Given the description of an element on the screen output the (x, y) to click on. 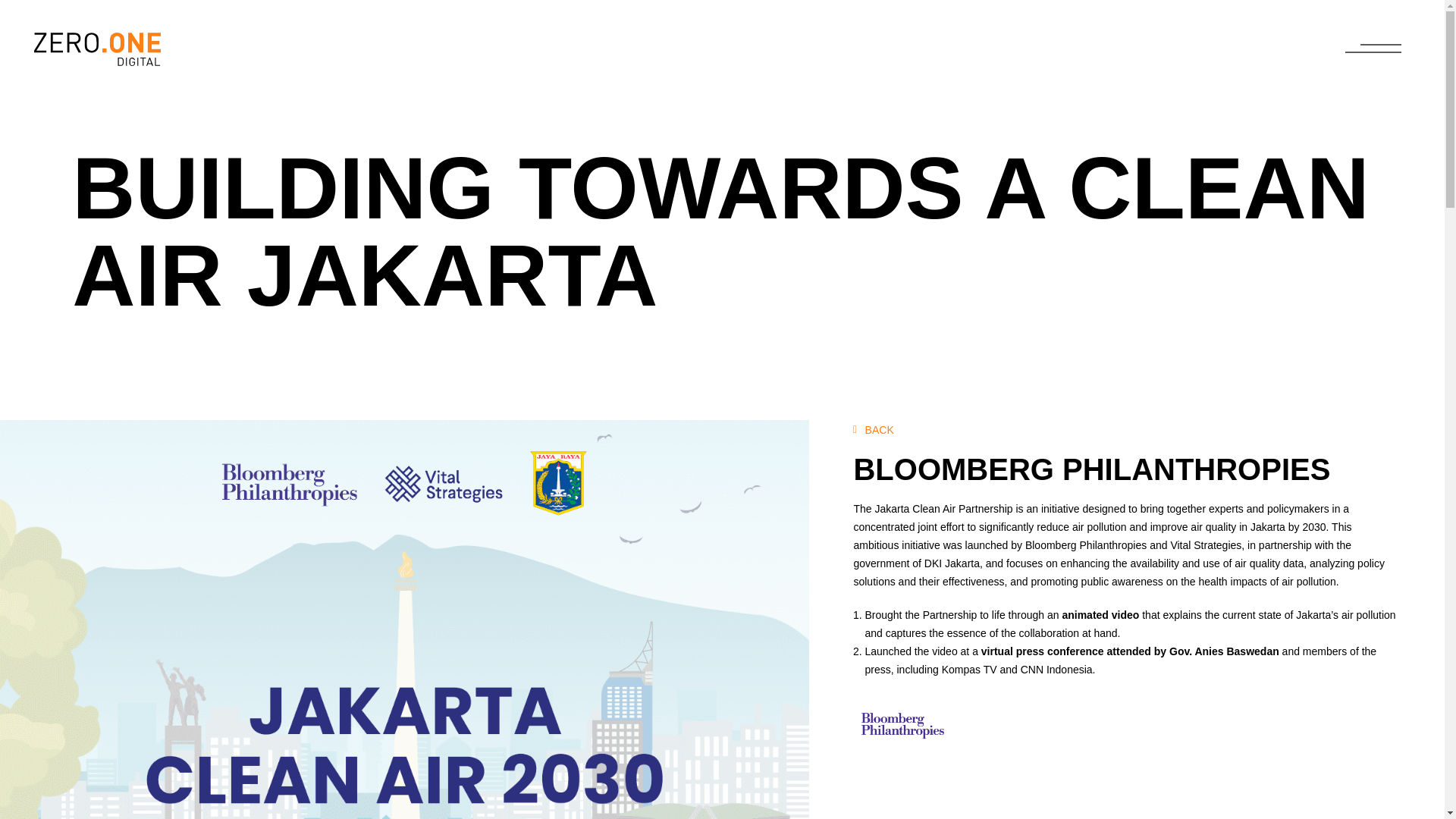
BACK (873, 429)
